Given the description of an element on the screen output the (x, y) to click on. 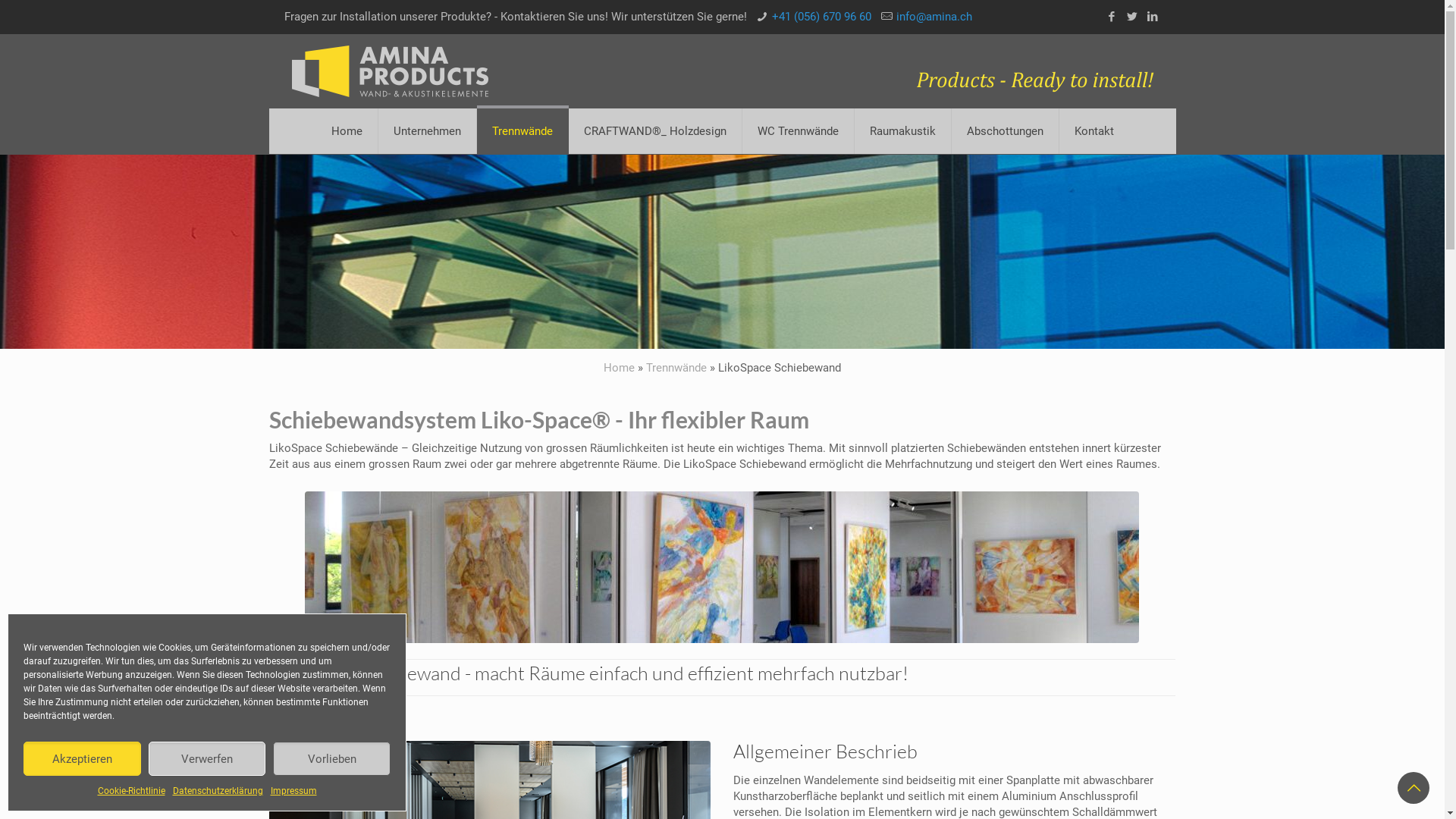
Facebook Element type: hover (1112, 16)
info@amina.ch Element type: text (934, 16)
Raumakustik Element type: text (901, 130)
Home Element type: text (618, 367)
Abschottungen Element type: text (1004, 130)
Amina Products Element type: hover (389, 71)
Twitter Element type: hover (1131, 16)
Schiebewand_012 Element type: hover (721, 567)
Home Element type: text (346, 130)
Verwerfen Element type: text (207, 758)
+41 (056) 670 96 60 Element type: text (821, 16)
Vorlieben Element type: text (331, 758)
Impressum Element type: text (292, 791)
Cookie-Richtlinie Element type: text (130, 791)
Kontakt Element type: text (1093, 130)
Unternehmen Element type: text (426, 130)
LinkedIn Element type: hover (1153, 16)
Akzeptieren Element type: text (82, 758)
